Given the description of an element on the screen output the (x, y) to click on. 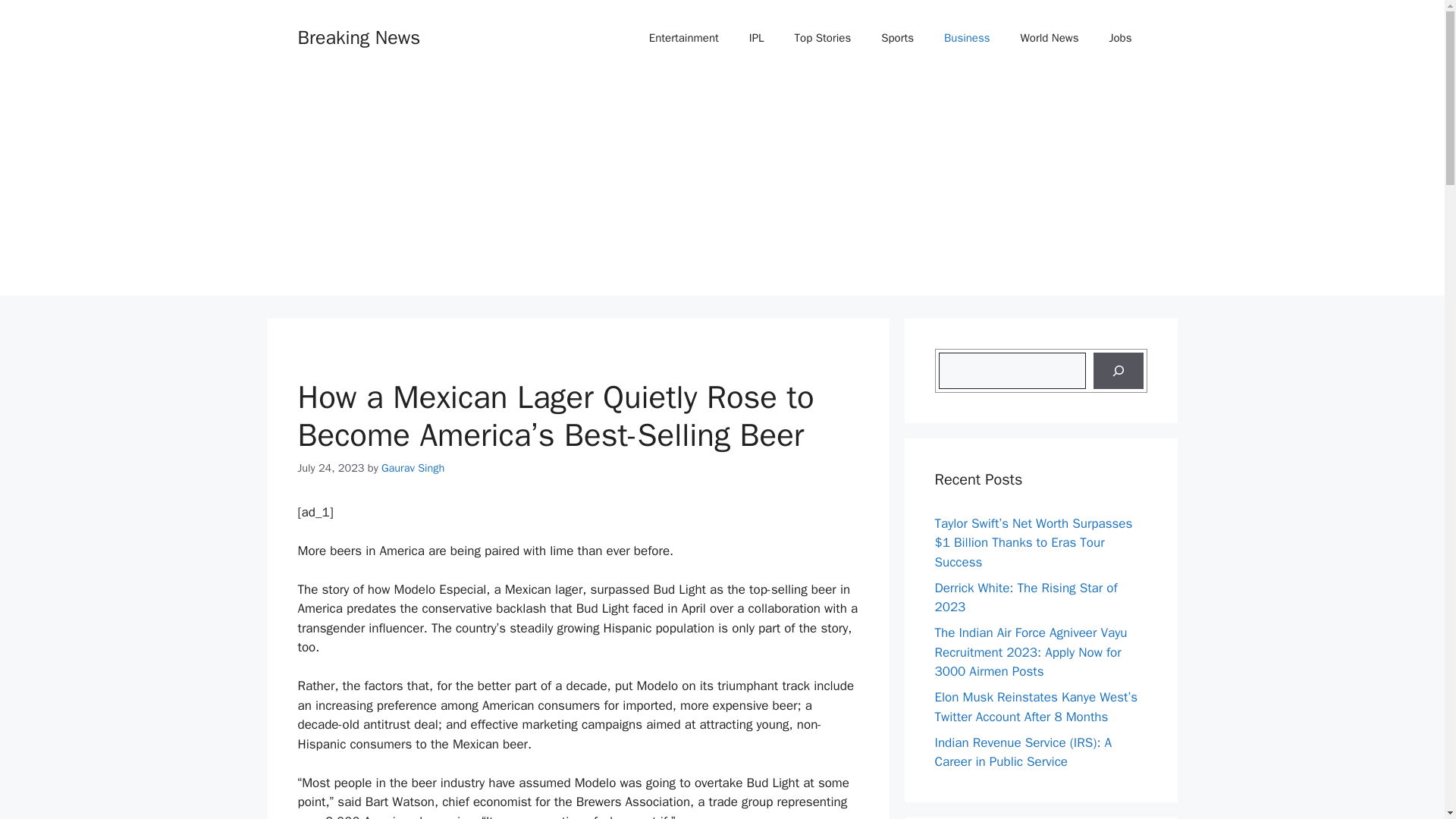
Jobs (1120, 37)
Breaking News (358, 37)
World News (1050, 37)
Derrick White: The Rising Star of 2023 (1025, 597)
Business (967, 37)
IPL (755, 37)
Entertainment (683, 37)
Gaurav Singh (412, 468)
View all posts by Gaurav Singh (412, 468)
Sports (897, 37)
Top Stories (822, 37)
